Given the description of an element on the screen output the (x, y) to click on. 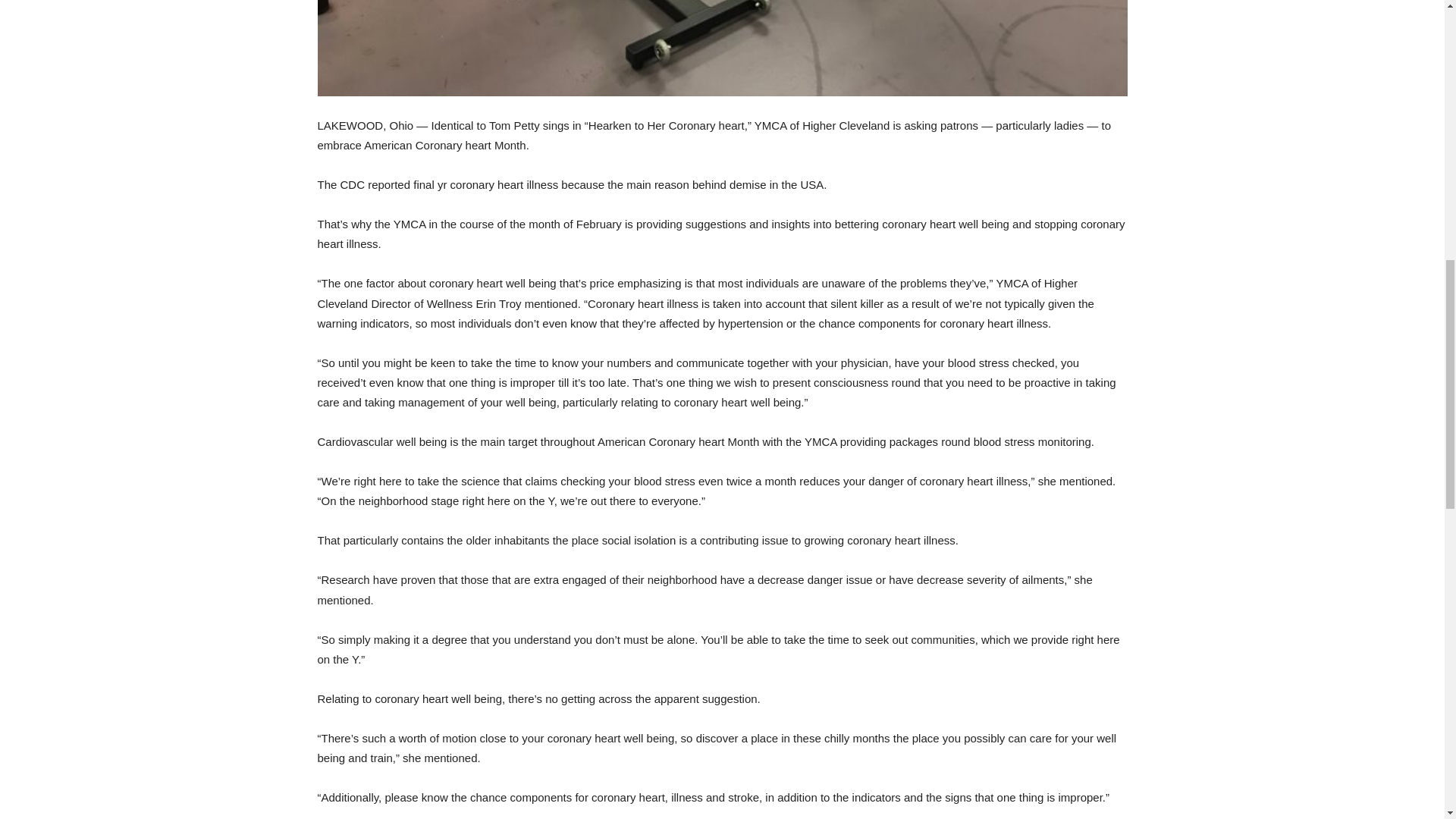
YMCA promotes American Heart Month tips for healthy living (721, 48)
